Given the description of an element on the screen output the (x, y) to click on. 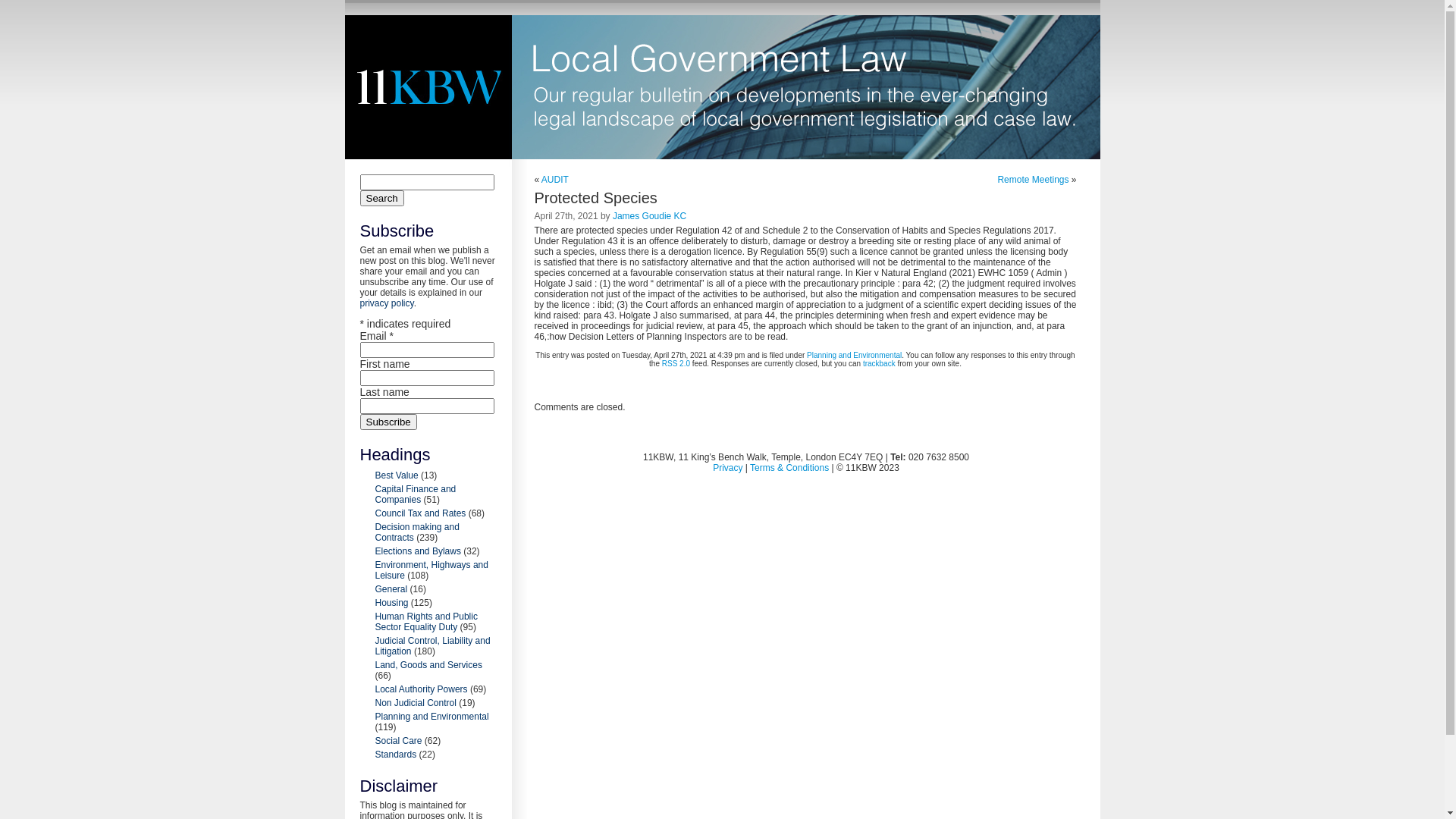
privacy policy Element type: text (386, 303)
Standards Element type: text (395, 754)
Land, Goods and Services Element type: text (427, 664)
RSS 2.0 Element type: text (676, 363)
James Goudie KC Element type: text (649, 215)
Planning and Environmental Element type: text (431, 716)
Housing Element type: text (390, 602)
Judicial Control, Liability and Litigation Element type: text (431, 645)
trackback Element type: text (878, 363)
Non Judicial Control Element type: text (414, 702)
Terms & Conditions Element type: text (788, 467)
Capital Finance and Companies Element type: text (414, 494)
Council Tax and Rates Element type: text (419, 513)
Subscribe Element type: text (387, 421)
Privacy Element type: text (727, 467)
Search Element type: text (381, 198)
Planning and Environmental Element type: text (853, 355)
AUDIT Element type: text (554, 179)
Remote Meetings Element type: text (1032, 179)
Human Rights and Public Sector Equality Duty Element type: text (425, 621)
Local Authority Powers Element type: text (420, 689)
Best Value Element type: text (395, 475)
General Element type: text (390, 588)
Environment, Highways and Leisure Element type: text (430, 569)
Visit the 11KBW website Element type: hover (427, 87)
Social Care Element type: text (397, 740)
Local Government Law home page Element type: hover (805, 87)
Elections and Bylaws Element type: text (417, 551)
Decision making and Contracts Element type: text (416, 531)
